Given the description of an element on the screen output the (x, y) to click on. 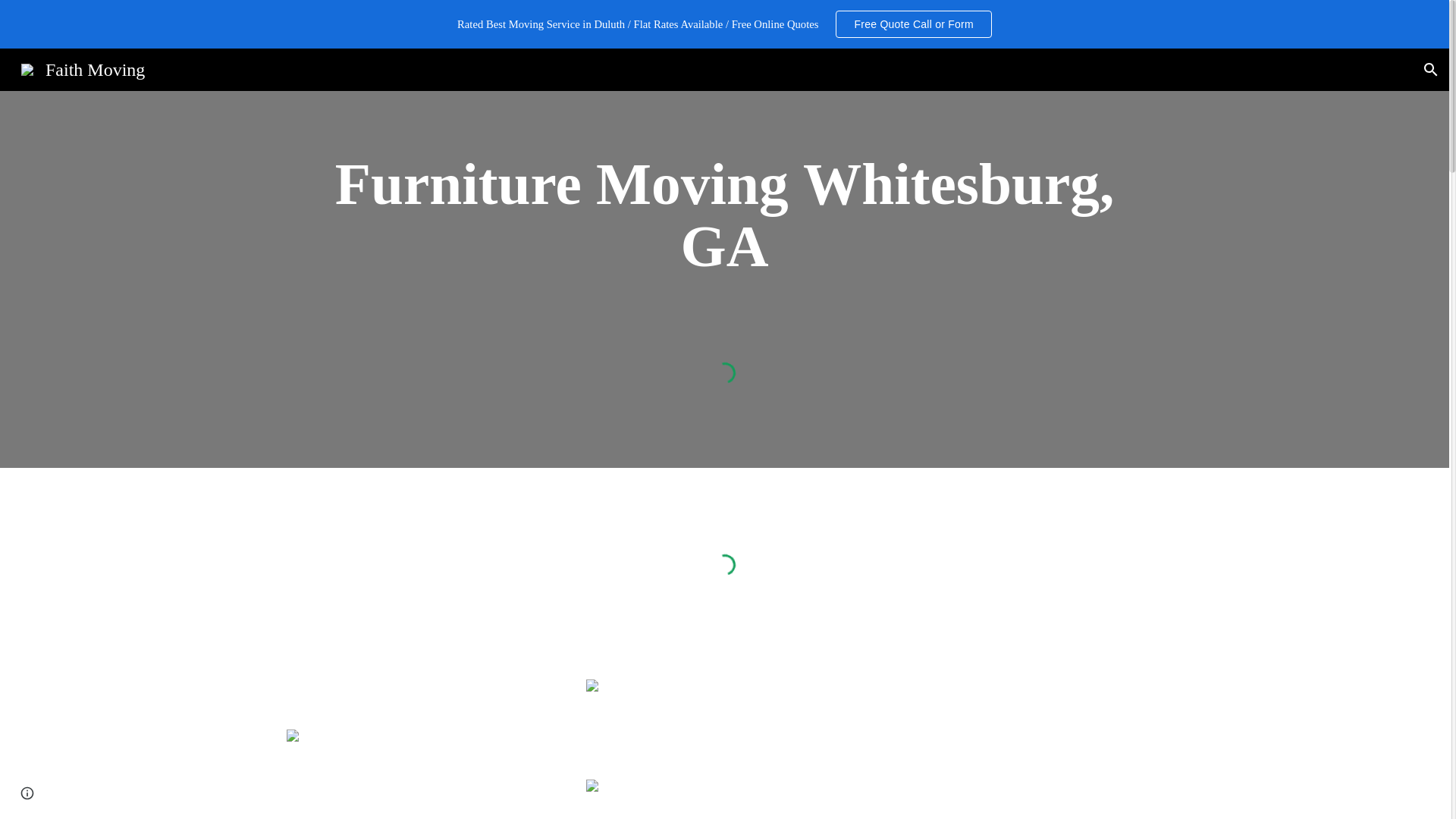
Free Quote Call or Form (912, 23)
SERVICES (858, 66)
Faith Moving (82, 67)
Custom embed (723, 373)
Free Quote Call or Form (913, 23)
HOME (762, 66)
